Given the description of an element on the screen output the (x, y) to click on. 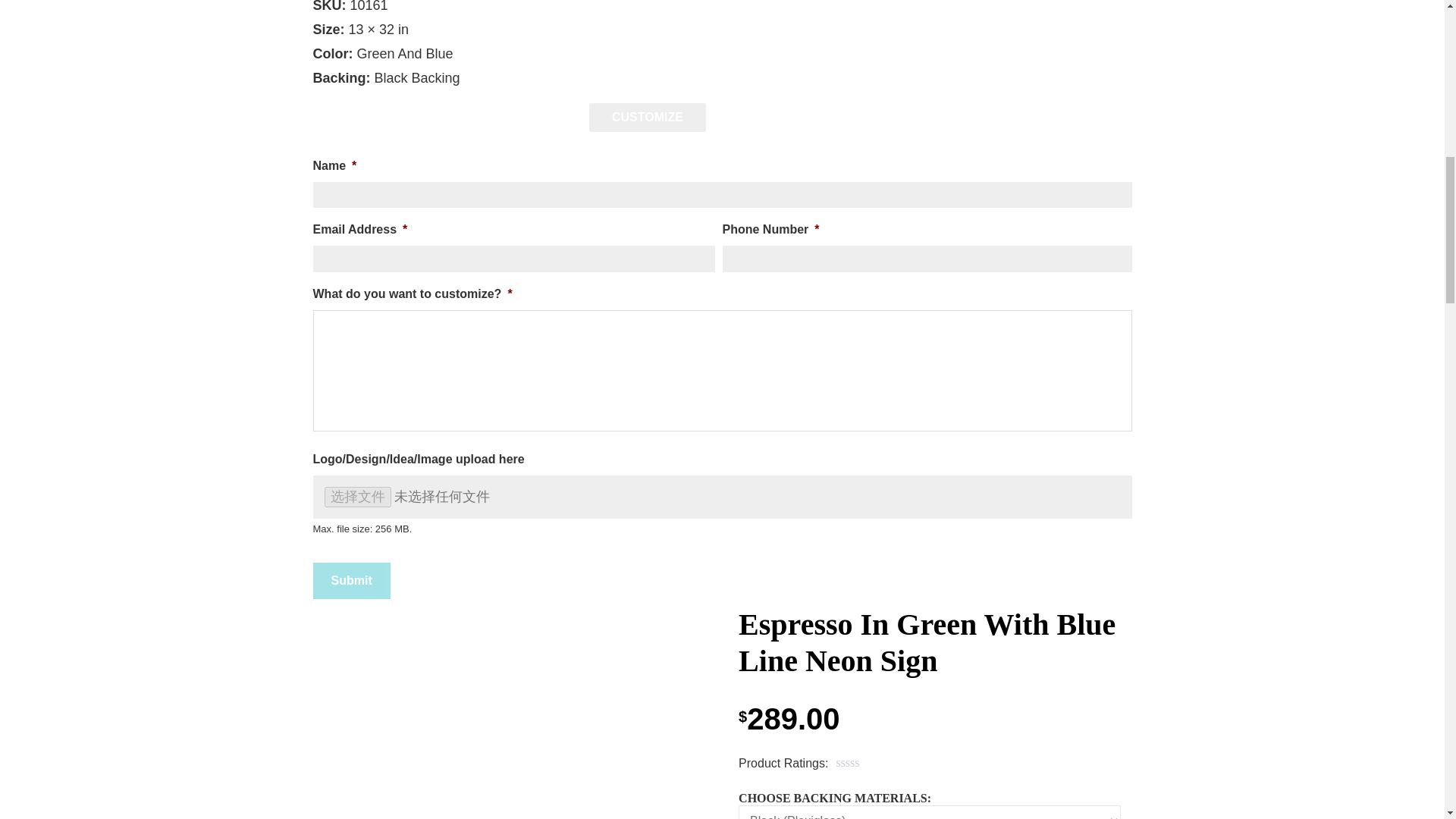
Submit (351, 580)
CUSTOMIZE (647, 117)
Submit (351, 580)
